Given the description of an element on the screen output the (x, y) to click on. 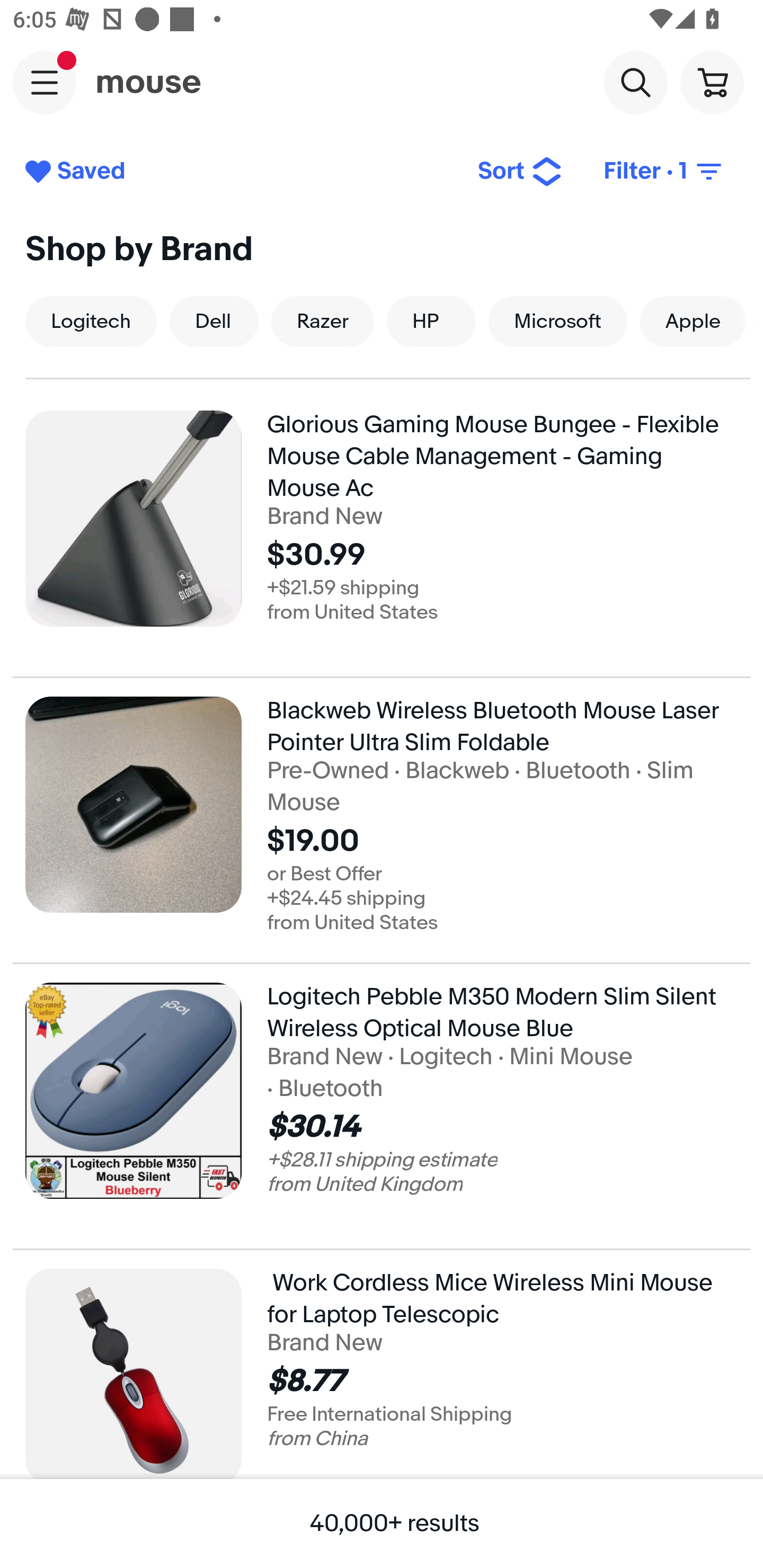
Main navigation, open (44, 82)
Search (635, 81)
Cart button shopping cart (711, 81)
Saved (237, 171)
Sort (520, 171)
Filter • 1 Filter (1 applied) (663, 171)
Logitech Logitech, Brand (91, 321)
Dell Dell, Brand (213, 321)
Razer Razer, Brand (322, 321)
HP HP, Brand (431, 321)
Microsoft Microsoft, Brand (557, 321)
Apple Apple, Brand (693, 321)
